Given the description of an element on the screen output the (x, y) to click on. 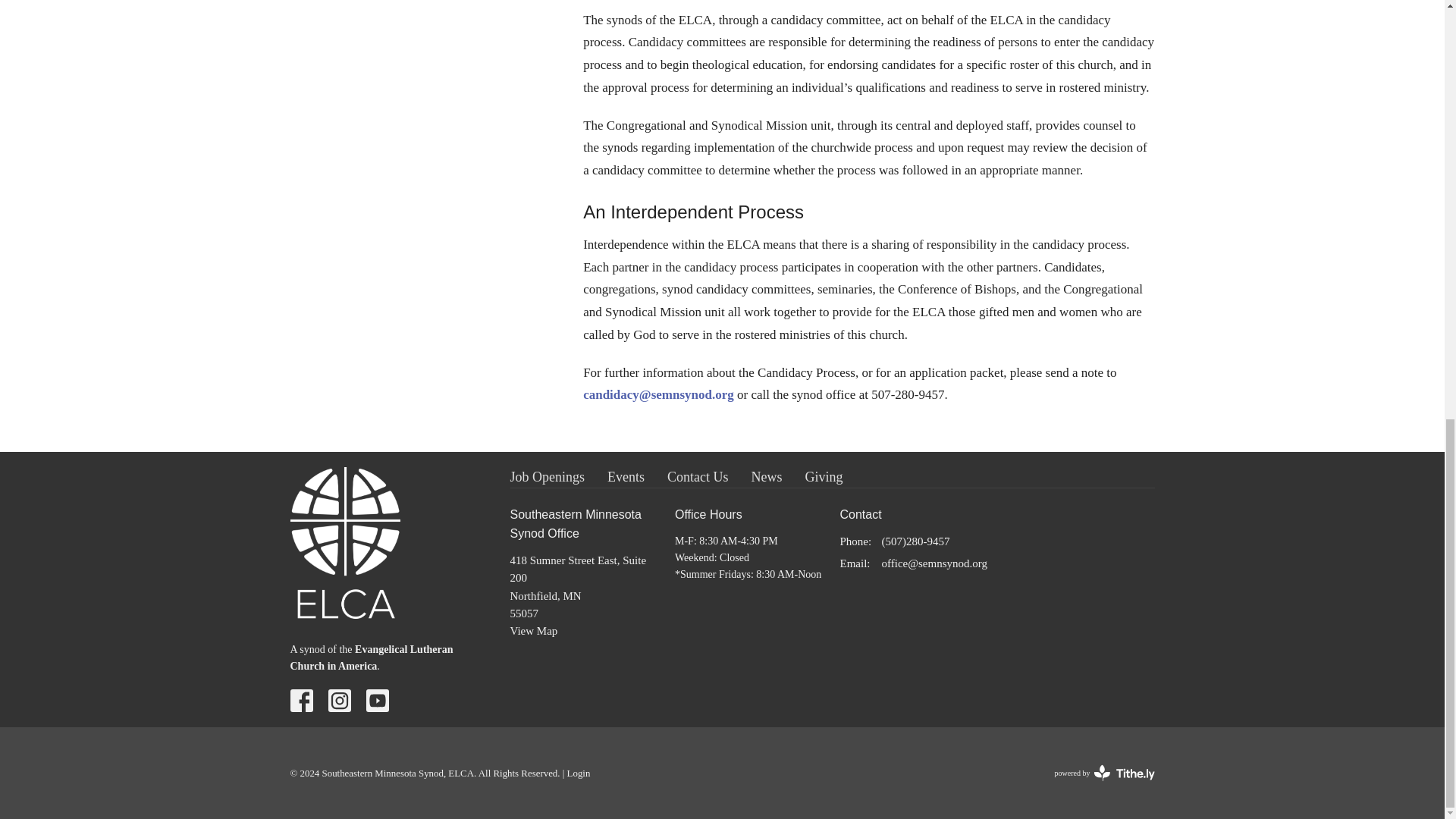
View Map (533, 630)
Login (579, 773)
Evangelical Lutheran Church in America (1104, 772)
News (370, 657)
Events (766, 477)
Job Openings (626, 477)
translation missing: en.ui.email (547, 477)
Giving (853, 563)
Contact Us (824, 477)
